Given the description of an element on the screen output the (x, y) to click on. 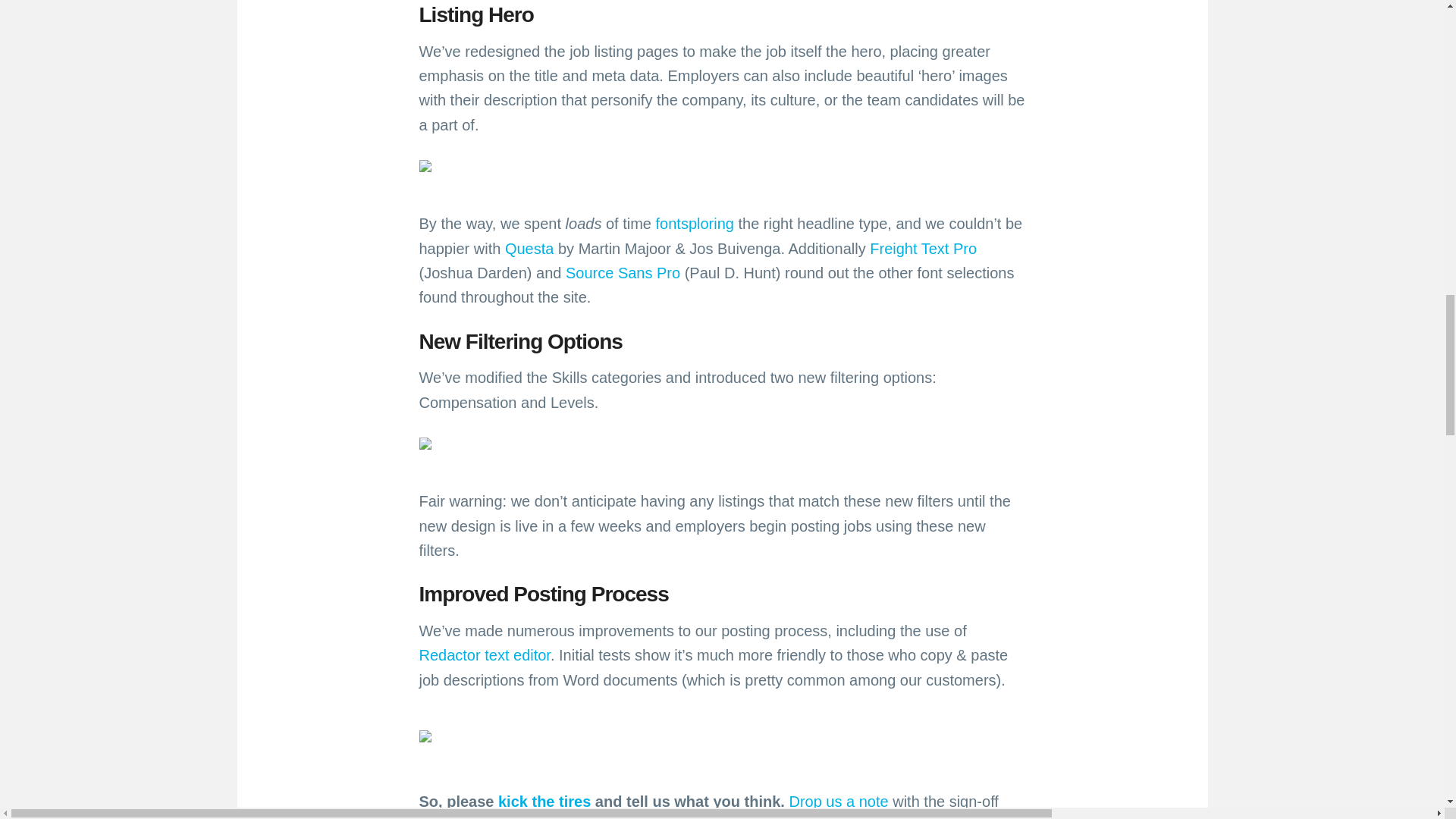
Source Sans Pro (622, 272)
Questa (529, 248)
kick the tires (544, 801)
Drop us a note (838, 801)
Redactor text editor (484, 655)
fontsploring (694, 223)
Freight Text Pro (922, 248)
